Given the description of an element on the screen output the (x, y) to click on. 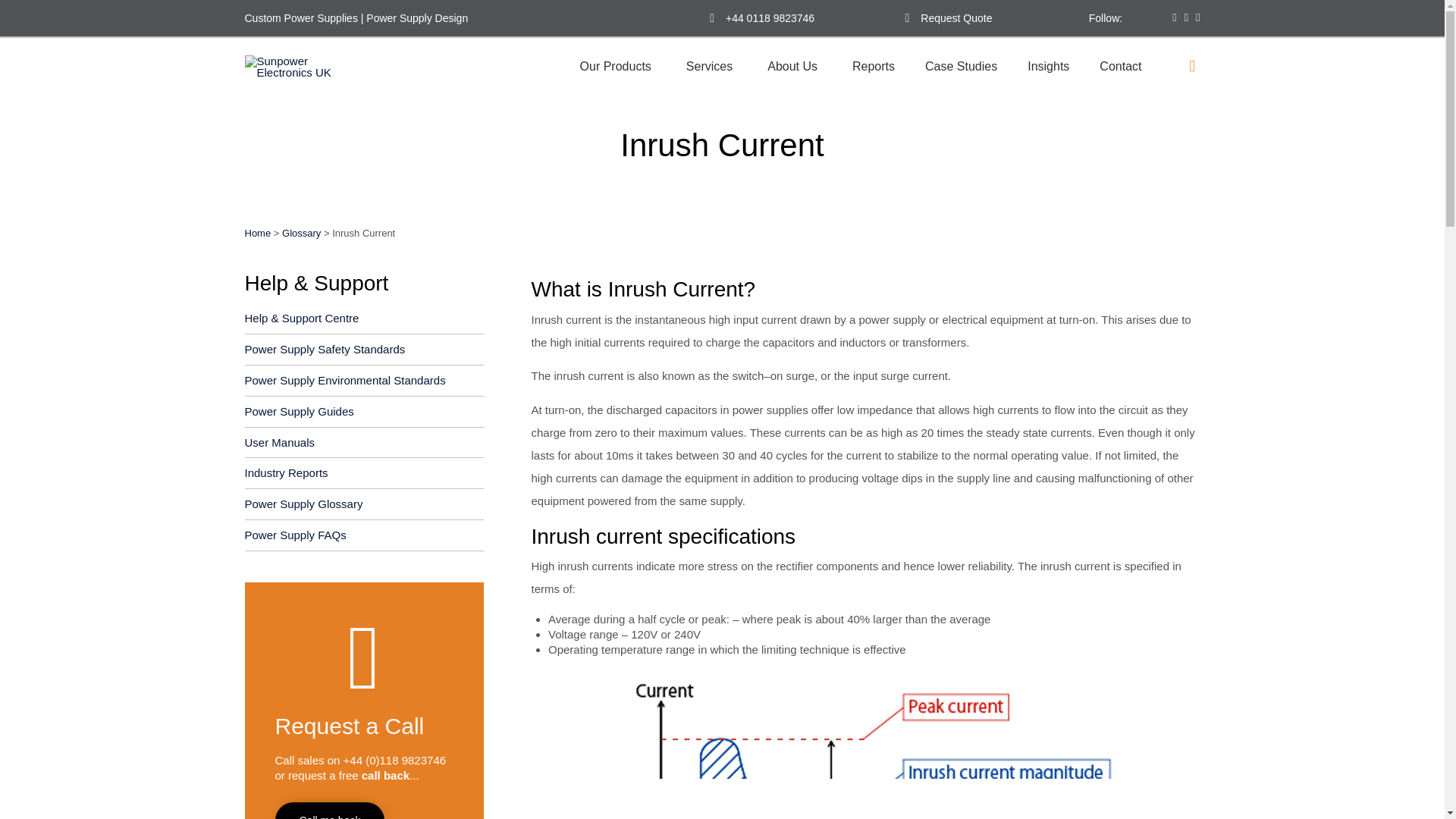
Our Products (617, 66)
Request Quote (955, 18)
Sunpower Electronics UK (303, 66)
